Given the description of an element on the screen output the (x, y) to click on. 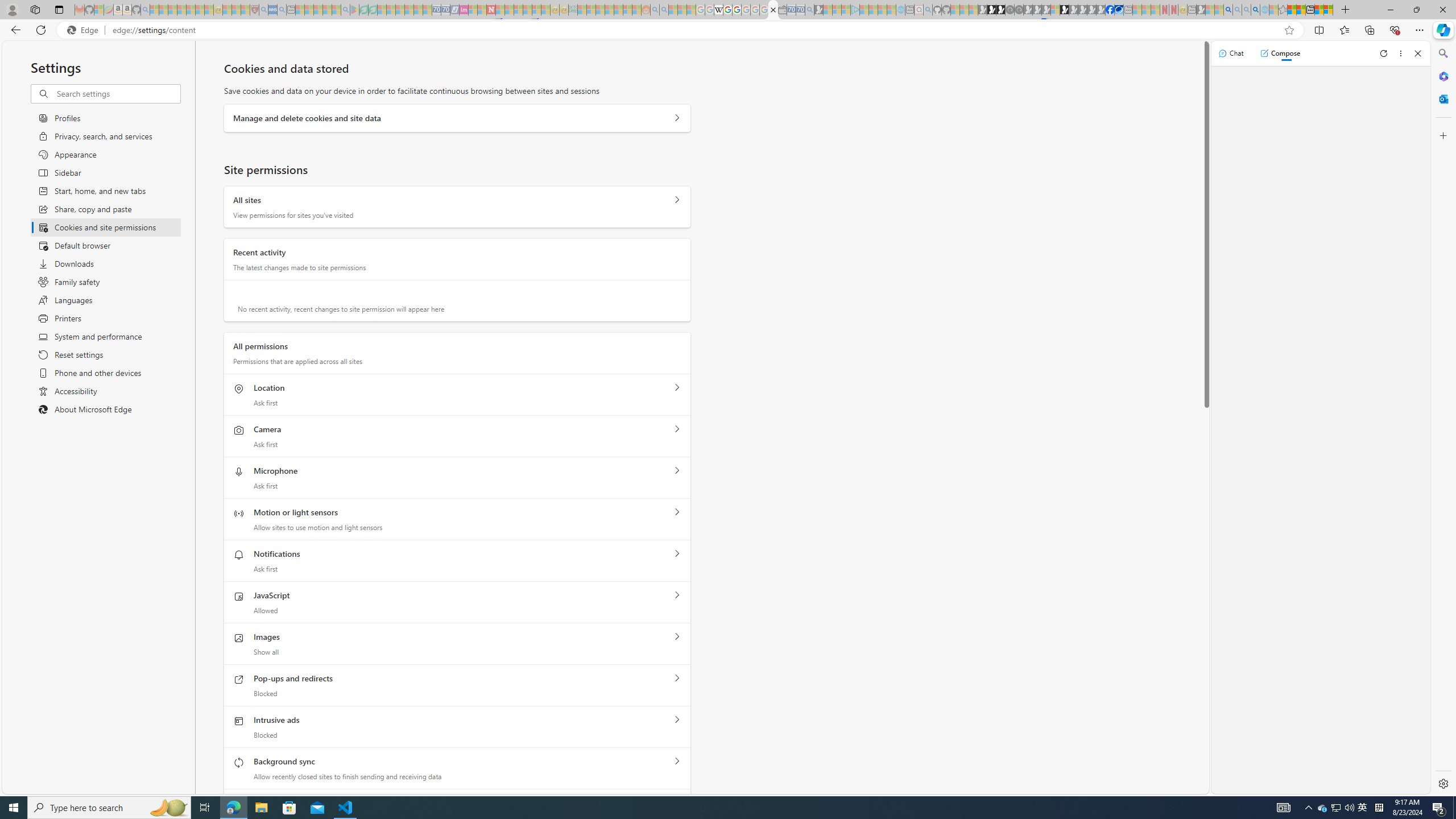
Latest Politics News & Archive | Newsweek.com - Sleeping (490, 9)
Microsoft Start Gaming - Sleeping (818, 9)
Automatic downloads (676, 802)
Bluey: Let's Play! - Apps on Google Play - Sleeping (354, 9)
utah sues federal government - Search - Sleeping (281, 9)
